Given the description of an element on the screen output the (x, y) to click on. 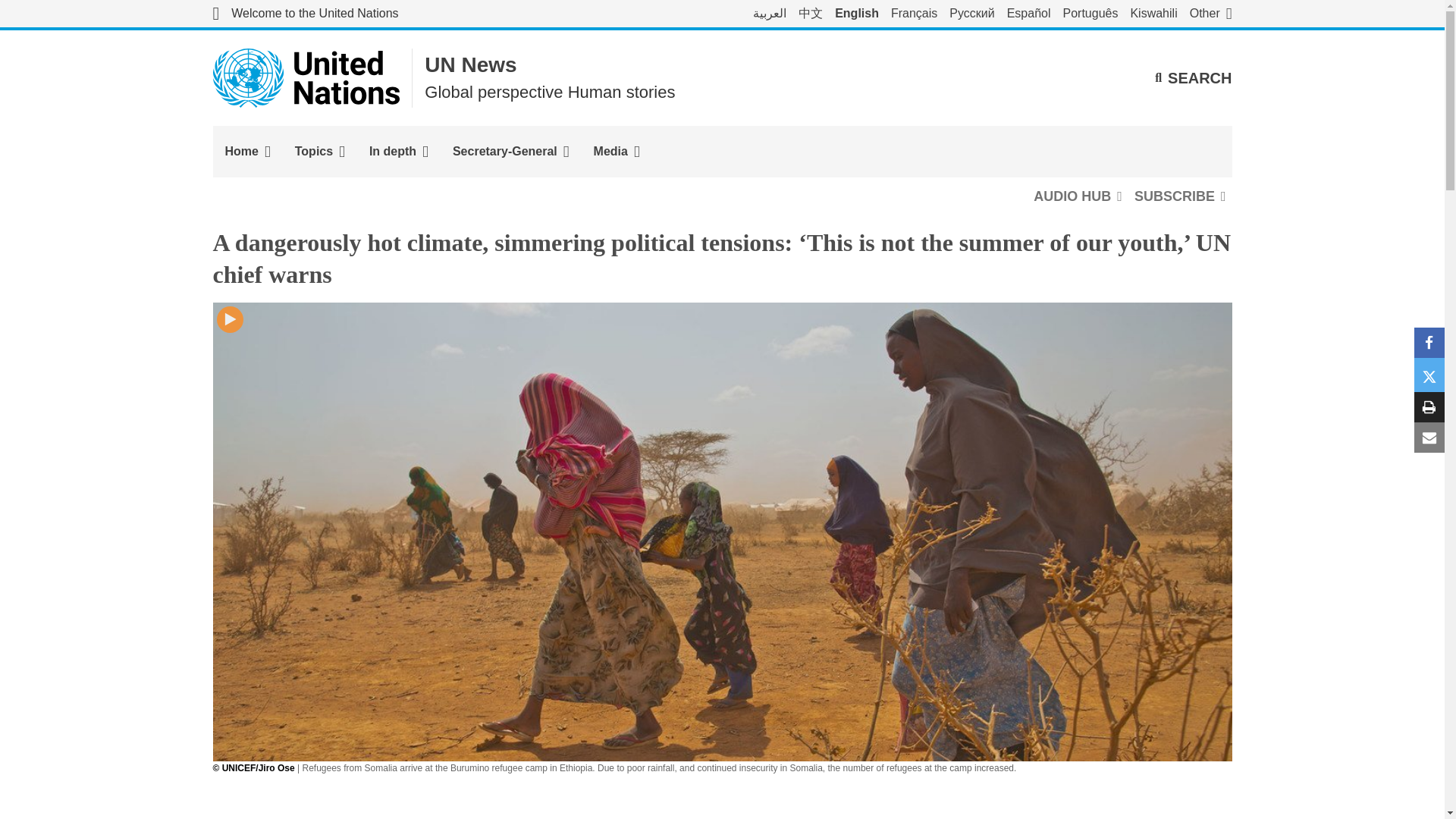
United Nations (304, 13)
Other (1210, 13)
SEARCH (1192, 77)
English (856, 13)
Topics (319, 151)
Home (247, 151)
Kiswahili (1152, 13)
United Nations (305, 76)
Home (247, 151)
UN News (470, 64)
UN News (470, 64)
Welcome to the United Nations (304, 13)
